Given the description of an element on the screen output the (x, y) to click on. 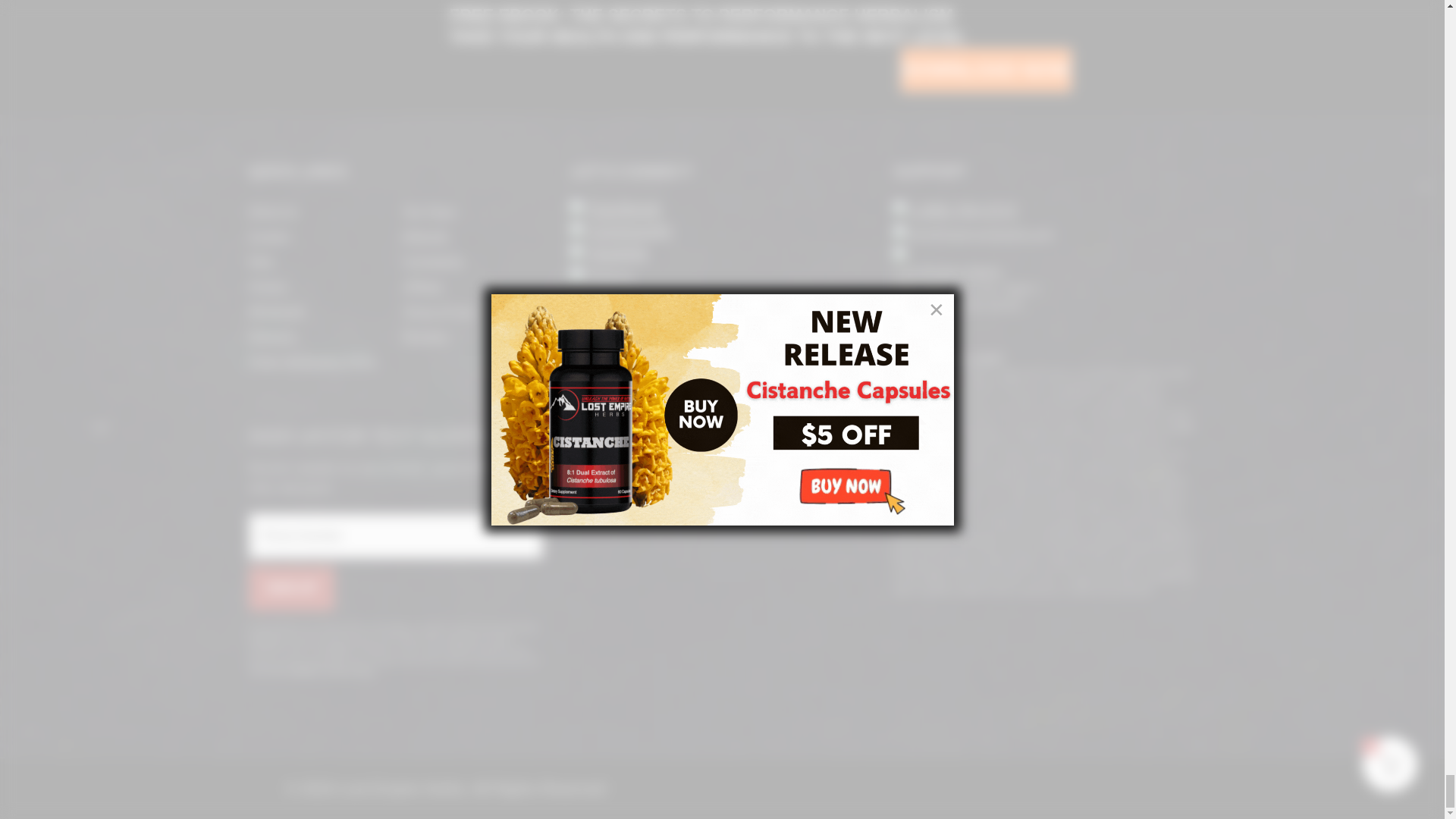
Please enter a valid phone number. (395, 535)
